Given the description of an element on the screen output the (x, y) to click on. 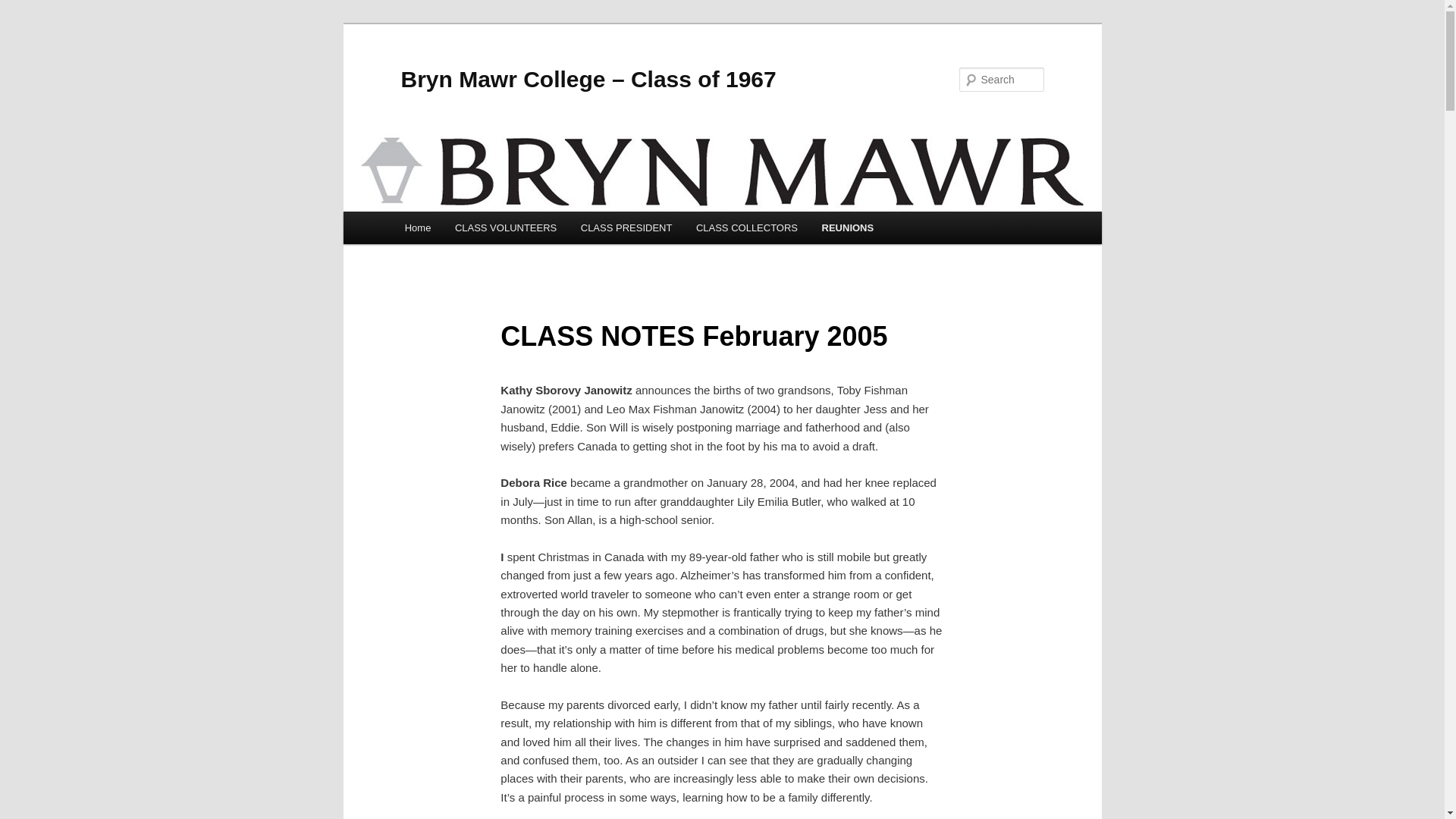
CLASS VOLUNTEERS (505, 227)
Home (417, 227)
CLASS COLLECTORS (746, 227)
CLASS PRESIDENT (626, 227)
REUNIONS (847, 227)
Search (24, 8)
